Given the description of an element on the screen output the (x, y) to click on. 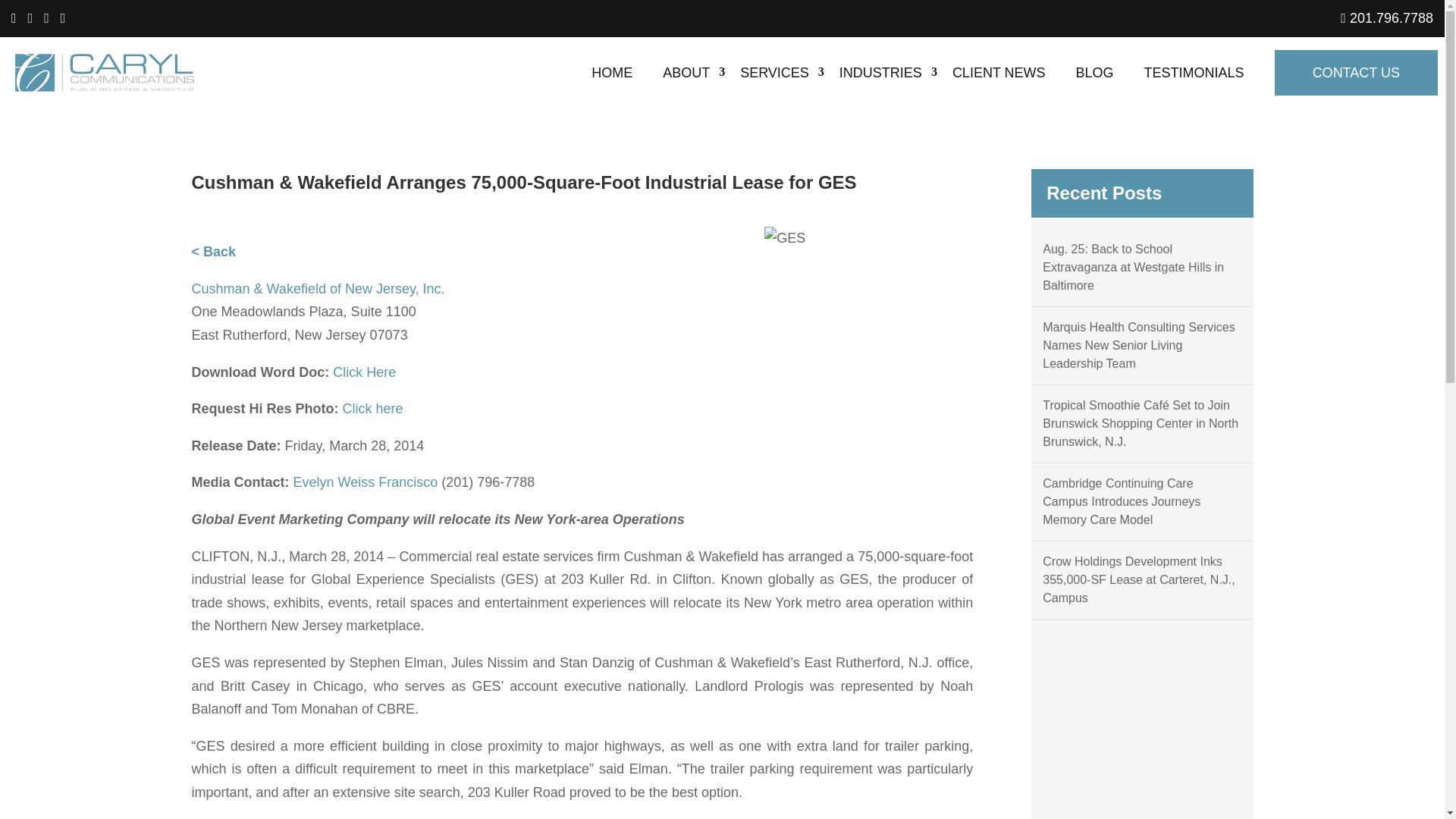
TESTIMONIALS (1194, 72)
INDUSTRIES (880, 72)
Caryl-logo (104, 73)
201.796.7788 (1386, 17)
CONTACT US (1356, 72)
SERVICES (774, 72)
CLIENT NEWS (998, 72)
